Given the description of an element on the screen output the (x, y) to click on. 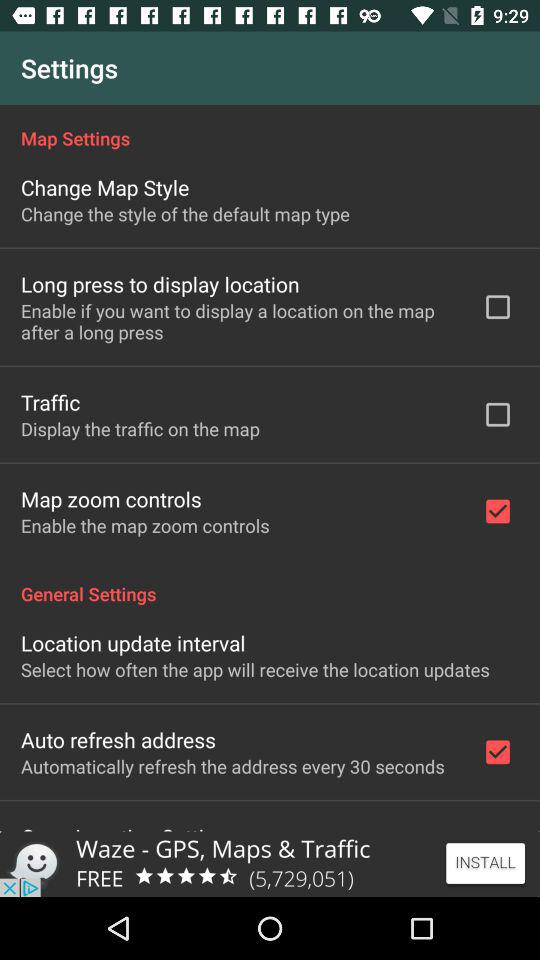
jump until the automatically refresh the item (232, 766)
